Given the description of an element on the screen output the (x, y) to click on. 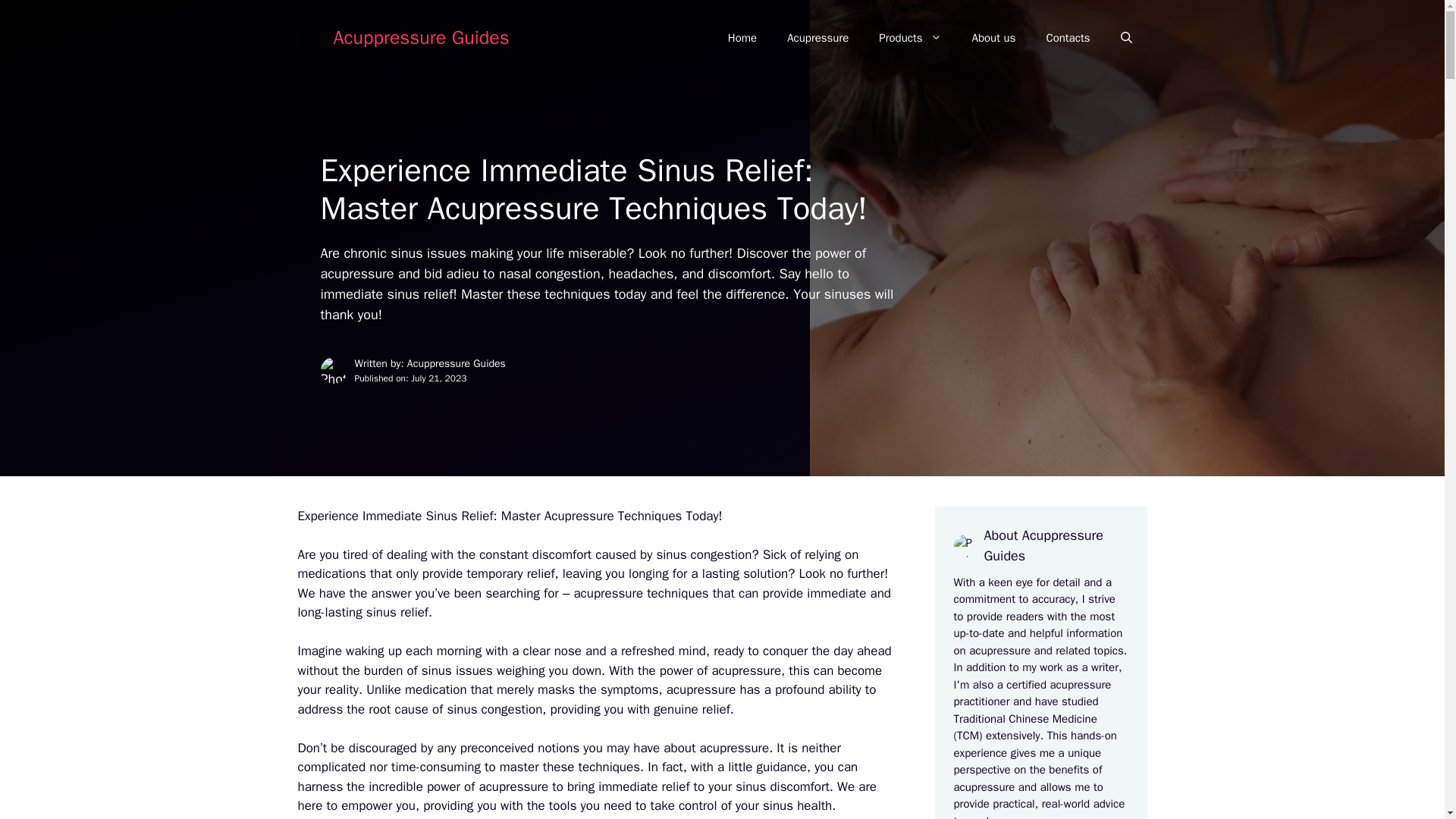
About us (993, 37)
Acupressure (817, 37)
Acuppressure Guides (421, 37)
Products (909, 37)
Contacts (1067, 37)
Home (742, 37)
